Given the description of an element on the screen output the (x, y) to click on. 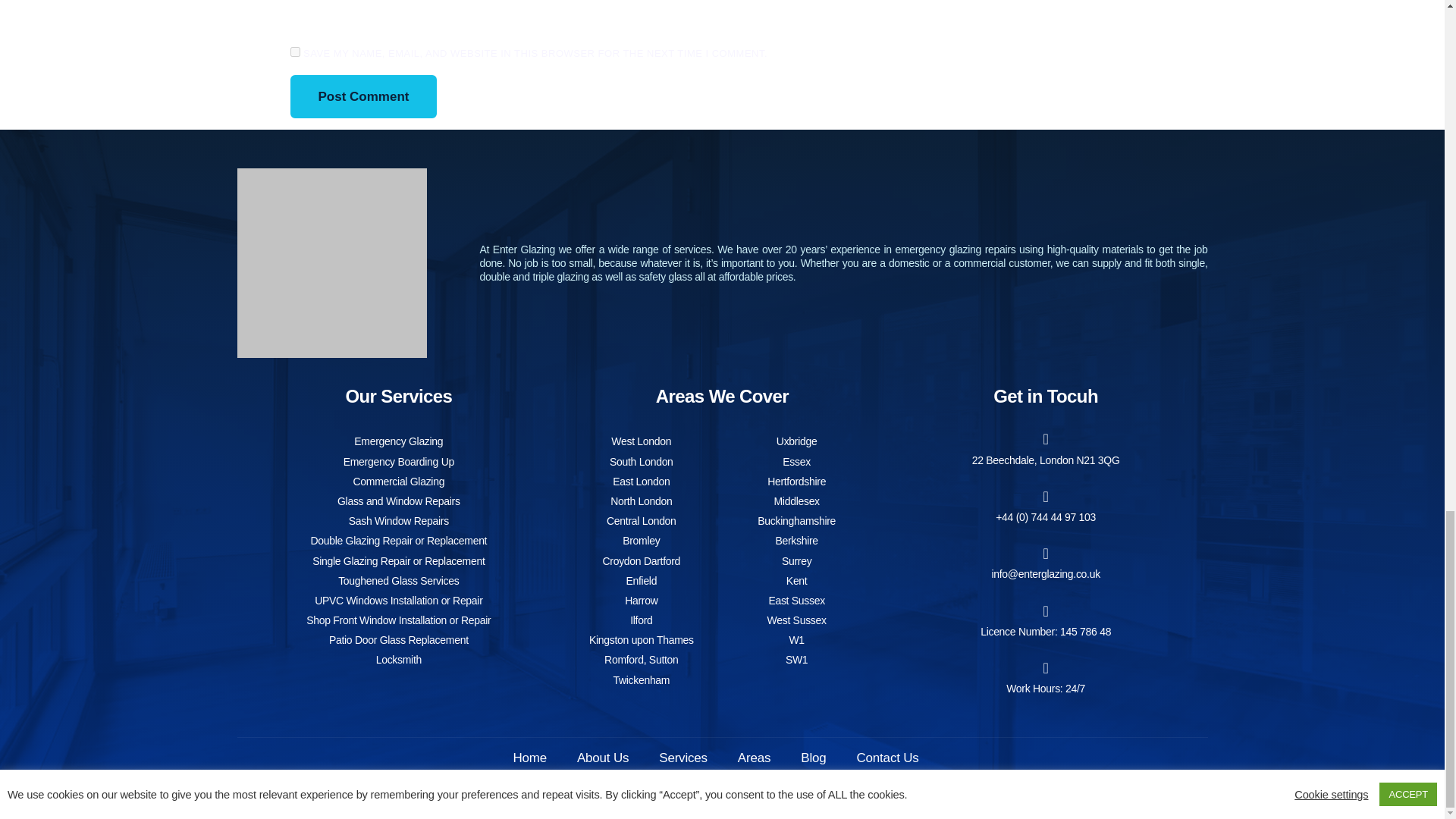
yes (294, 51)
Post Comment (362, 96)
